Given the description of an element on the screen output the (x, y) to click on. 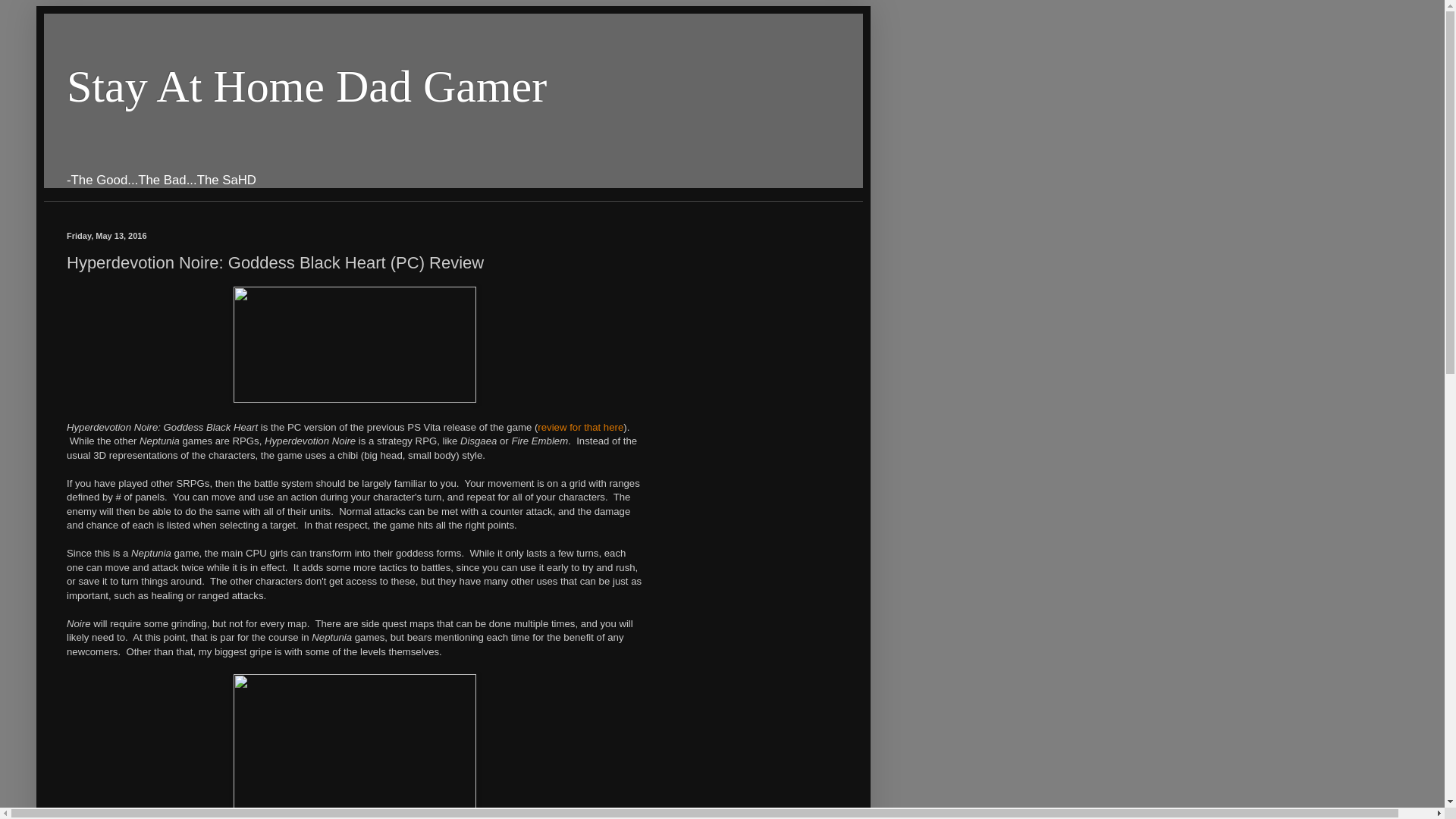
Stay At Home Dad Gamer (306, 86)
review for that here (580, 427)
